Given the description of an element on the screen output the (x, y) to click on. 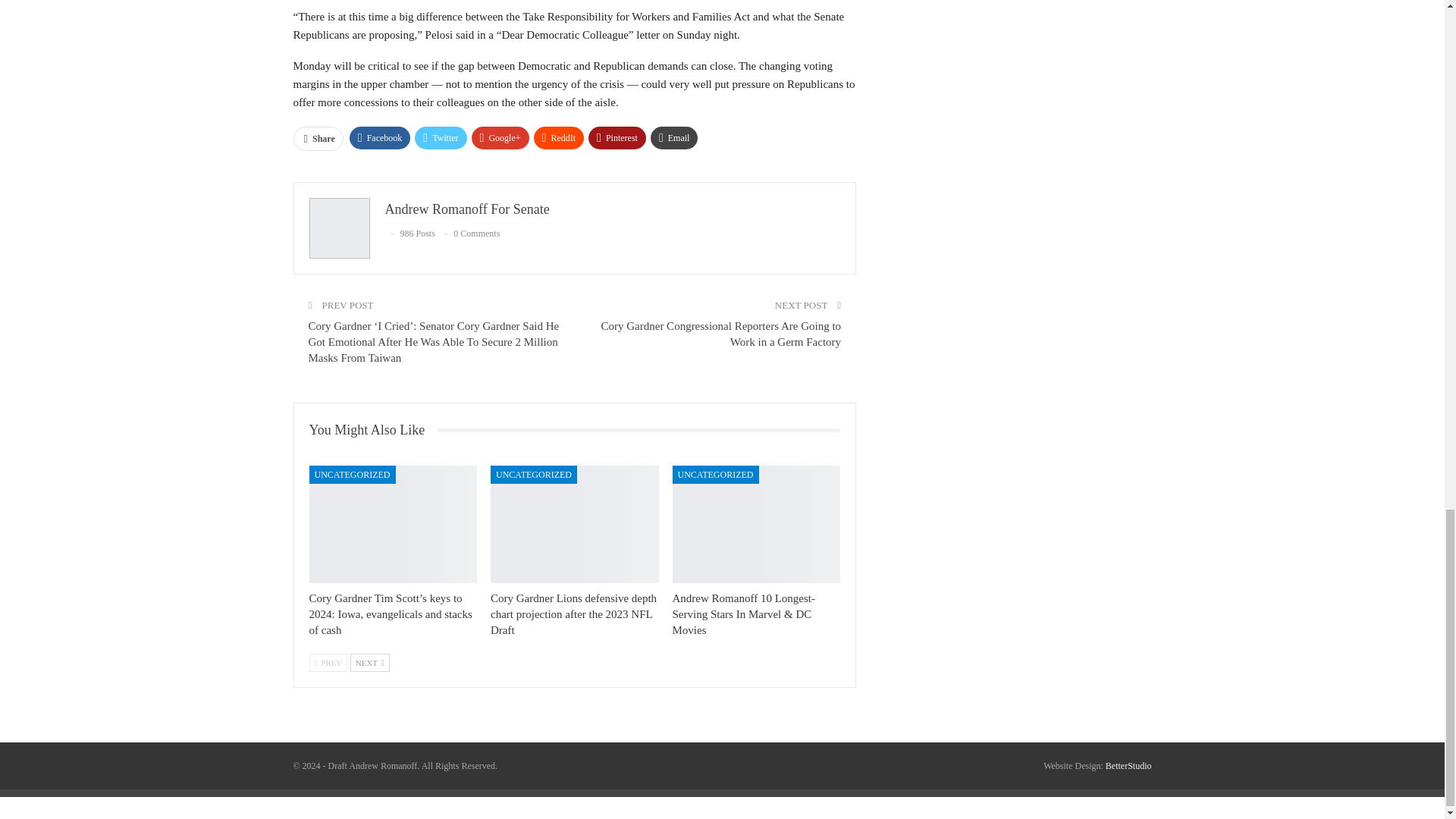
Previous (327, 662)
Facebook (379, 137)
UNCATEGORIZED (352, 475)
Andrew Romanoff For Senate (467, 209)
Twitter (439, 137)
Pinterest (617, 137)
UNCATEGORIZED (533, 475)
